Given the description of an element on the screen output the (x, y) to click on. 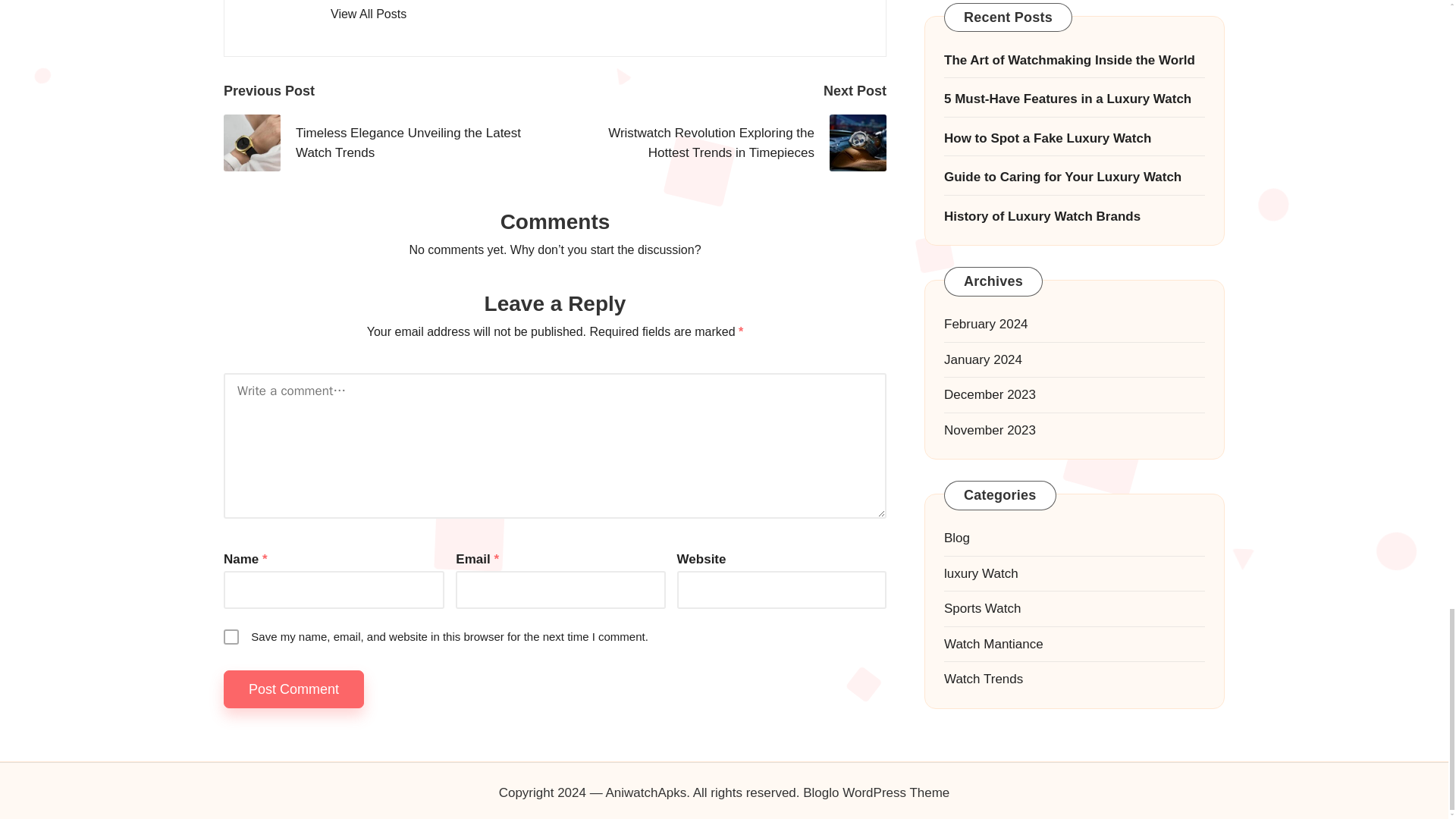
yes (231, 636)
Post Comment (294, 689)
